Given the description of an element on the screen output the (x, y) to click on. 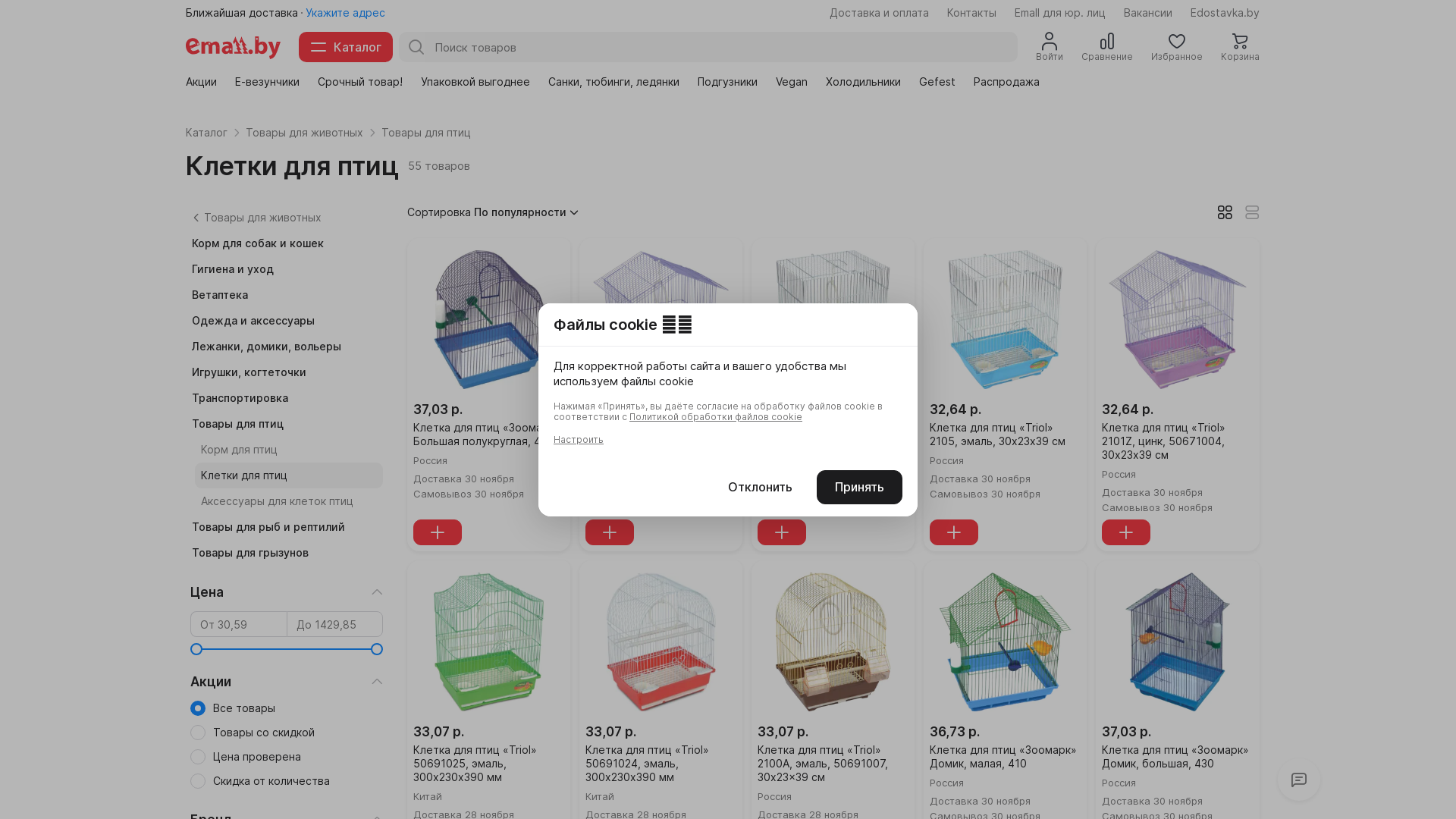
Gefest Element type: text (937, 81)
Edostavka.by Element type: text (1224, 12)
Vegan Element type: text (790, 81)
